Given the description of an element on the screen output the (x, y) to click on. 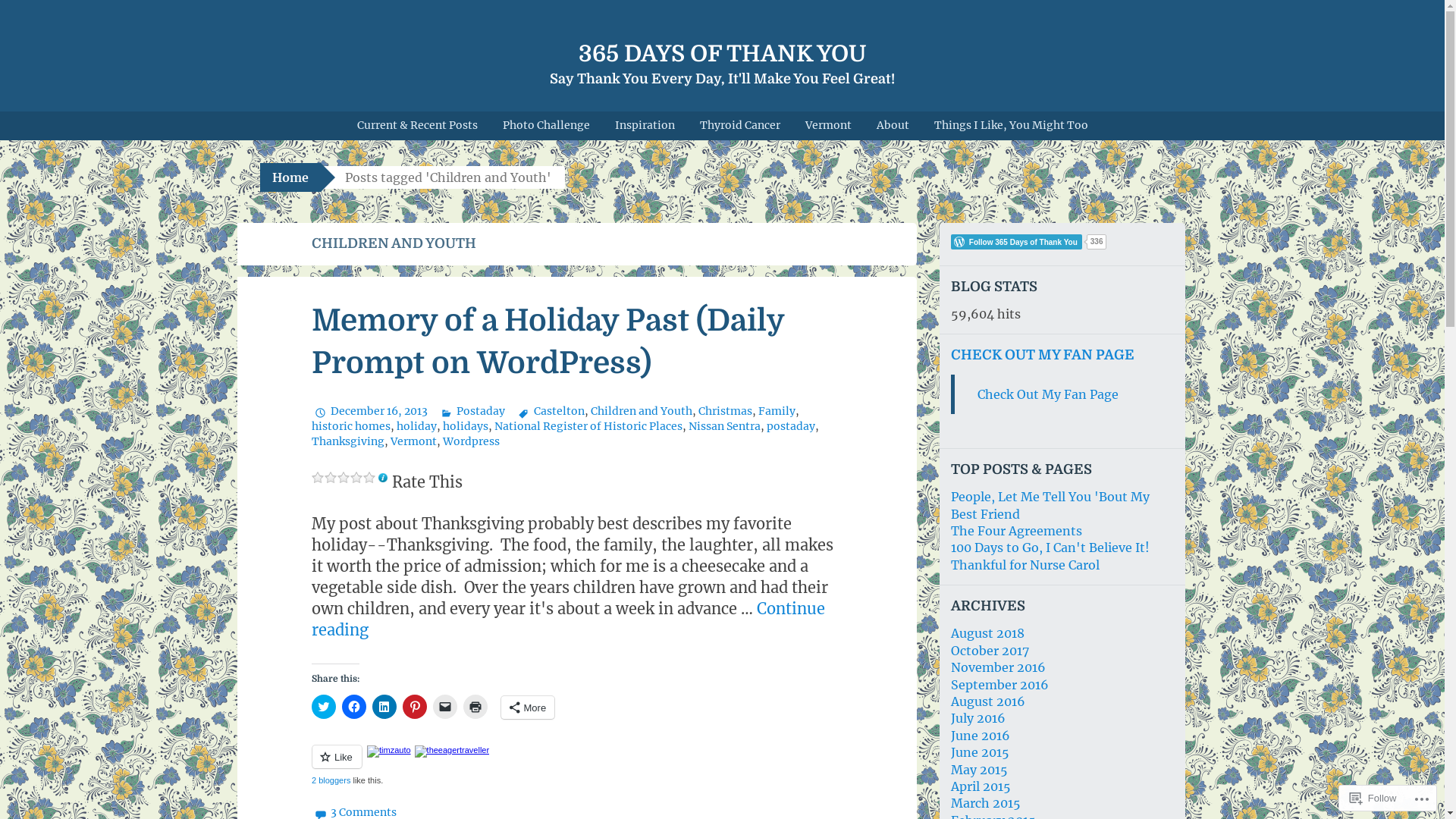
historic homes Element type: text (349, 426)
Vermont Element type: text (412, 441)
The Four Agreements Element type: text (1016, 530)
May 2015 Element type: text (978, 769)
Vermont Element type: text (827, 125)
Click to share on Facebook (Opens in new window) Element type: text (353, 706)
September 2016 Element type: text (999, 684)
Click to share on Twitter (Opens in new window) Element type: text (322, 706)
100 Days to Go, I Can't Believe It! Element type: text (1049, 547)
Inspiration Element type: text (644, 125)
Thanksgiving Element type: text (346, 441)
April 2015 Element type: text (980, 785)
August 2018 Element type: text (987, 632)
Children and Youth Element type: text (641, 410)
Memory of a Holiday Past (Daily Prompt on WordPress) Element type: text (546, 341)
Like or Reblog Element type: hover (575, 765)
Click to share on LinkedIn (Opens in new window) Element type: text (383, 706)
Click to share on Pinterest (Opens in new window) Element type: text (413, 706)
Continue reading Element type: text (567, 619)
Family Element type: text (776, 410)
Home Element type: text (289, 177)
CHECK OUT MY FAN PAGE Element type: text (1042, 354)
Thyroid Cancer Element type: text (739, 125)
Postaday Element type: text (471, 410)
December 16, 2013 Element type: text (368, 410)
Castelton Element type: text (549, 410)
Wordpress Element type: text (470, 441)
Thankful for Nurse Carol Element type: text (1024, 564)
Photo Challenge Element type: text (546, 125)
Current & Recent Posts Element type: text (417, 125)
postaday Element type: text (789, 426)
Nissan Sentra Element type: text (724, 426)
June 2016 Element type: text (980, 735)
Click to email a link to a friend (Opens in new window) Element type: text (444, 706)
More Element type: text (527, 707)
Follow Element type: text (1372, 797)
holidays Element type: text (465, 426)
365 DAYS OF THANK YOU Element type: text (721, 53)
Christmas Element type: text (725, 410)
holiday Element type: text (415, 426)
March 2015 Element type: text (985, 802)
Click to print (Opens in new window) Element type: text (474, 706)
October 2017 Element type: text (989, 650)
National Register of Historic Places Element type: text (588, 426)
November 2016 Element type: text (997, 666)
June 2015 Element type: text (979, 751)
Check Out My Fan Page Element type: text (1046, 393)
About Element type: text (891, 125)
August 2016 Element type: text (987, 701)
Follow Button Element type: hover (1061, 241)
Things I Like, You Might Too Element type: text (1010, 125)
People, Let Me Tell You 'Bout My Best Friend Element type: text (1049, 504)
July 2016 Element type: text (977, 717)
